Given the description of an element on the screen output the (x, y) to click on. 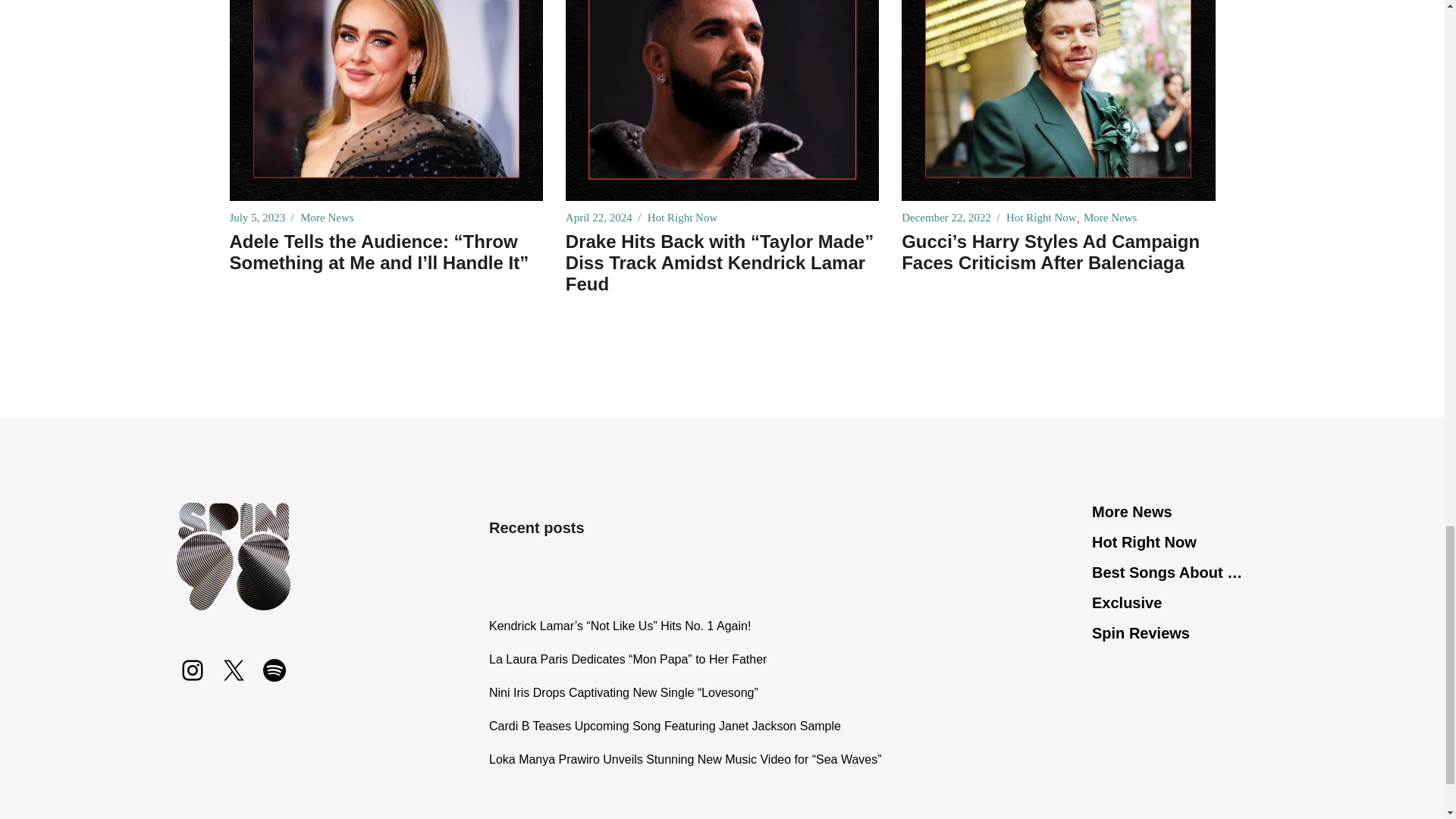
July 5, 2023 (256, 217)
